Given the description of an element on the screen output the (x, y) to click on. 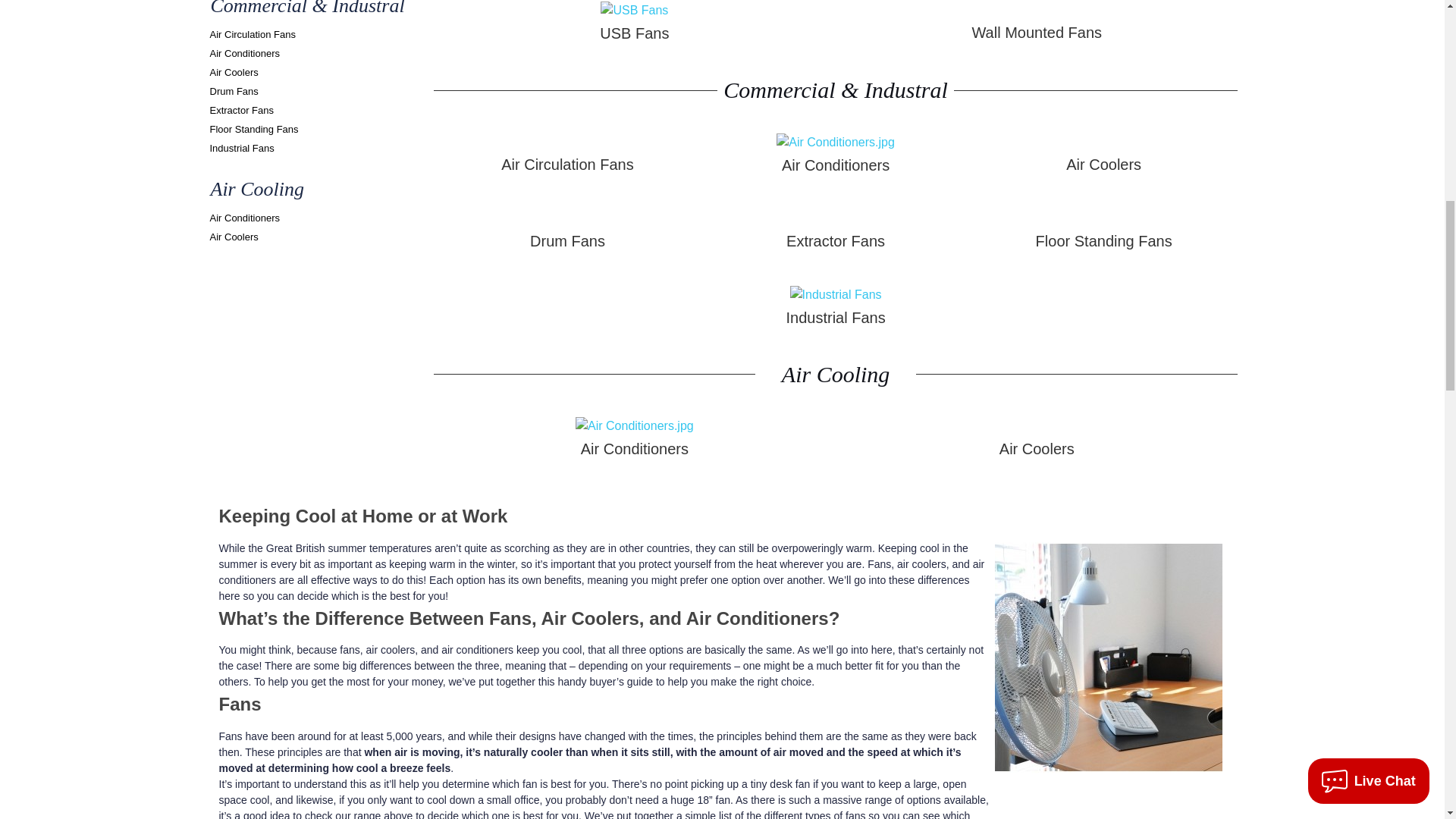
Extractor Fans (241, 110)
Air Circulation Fans (252, 34)
Floor Standing Fans (253, 129)
Drum Fans (233, 91)
Air Conditioners (244, 52)
Air Coolers (233, 71)
